Given the description of an element on the screen output the (x, y) to click on. 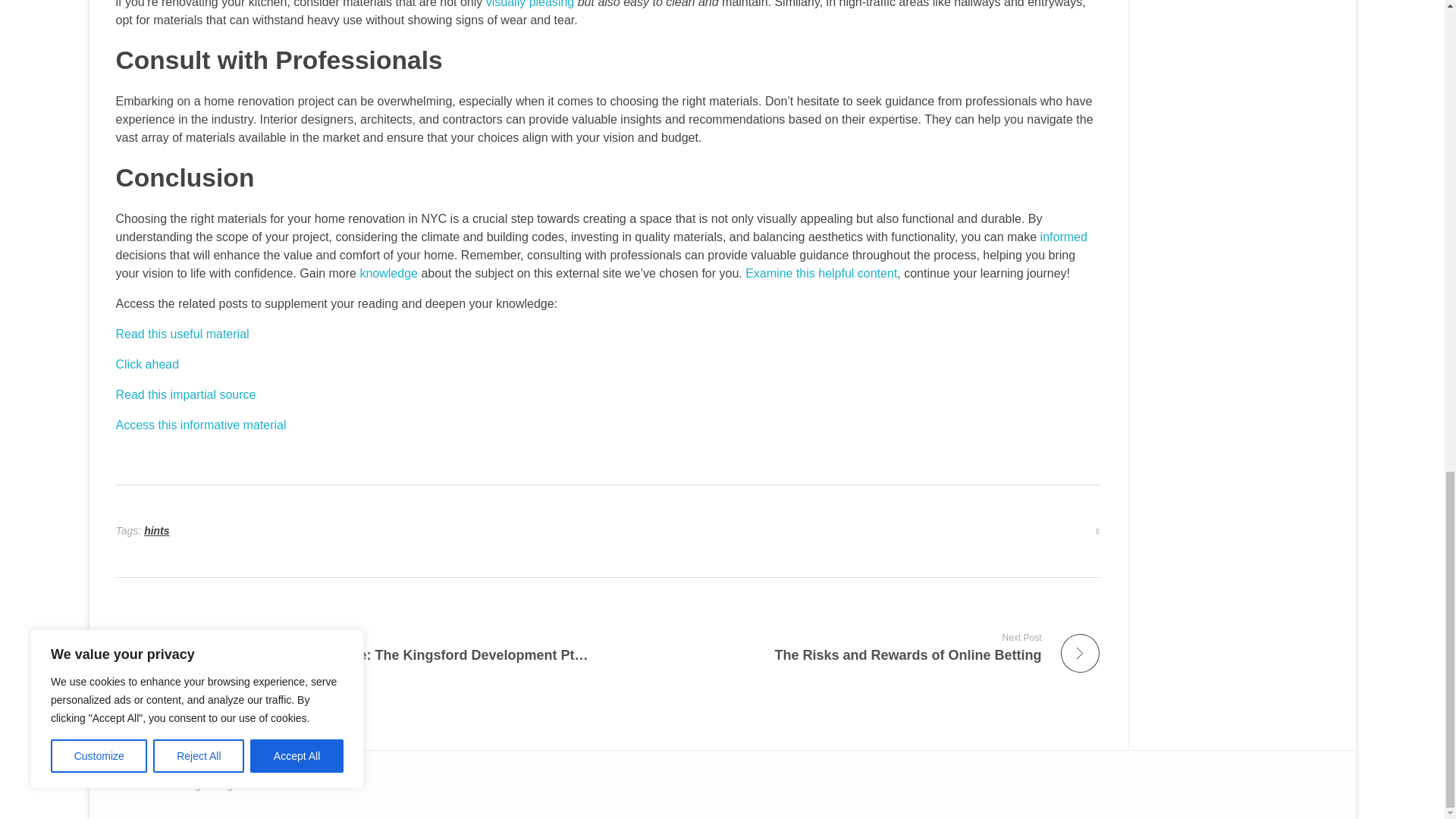
Click ahead (147, 364)
Read this impartial source (859, 646)
Read this useful material (185, 394)
knowledge (181, 333)
Examine this helpful content (388, 273)
Access this informative material (820, 273)
hints (200, 424)
informed (156, 530)
